Given the description of an element on the screen output the (x, y) to click on. 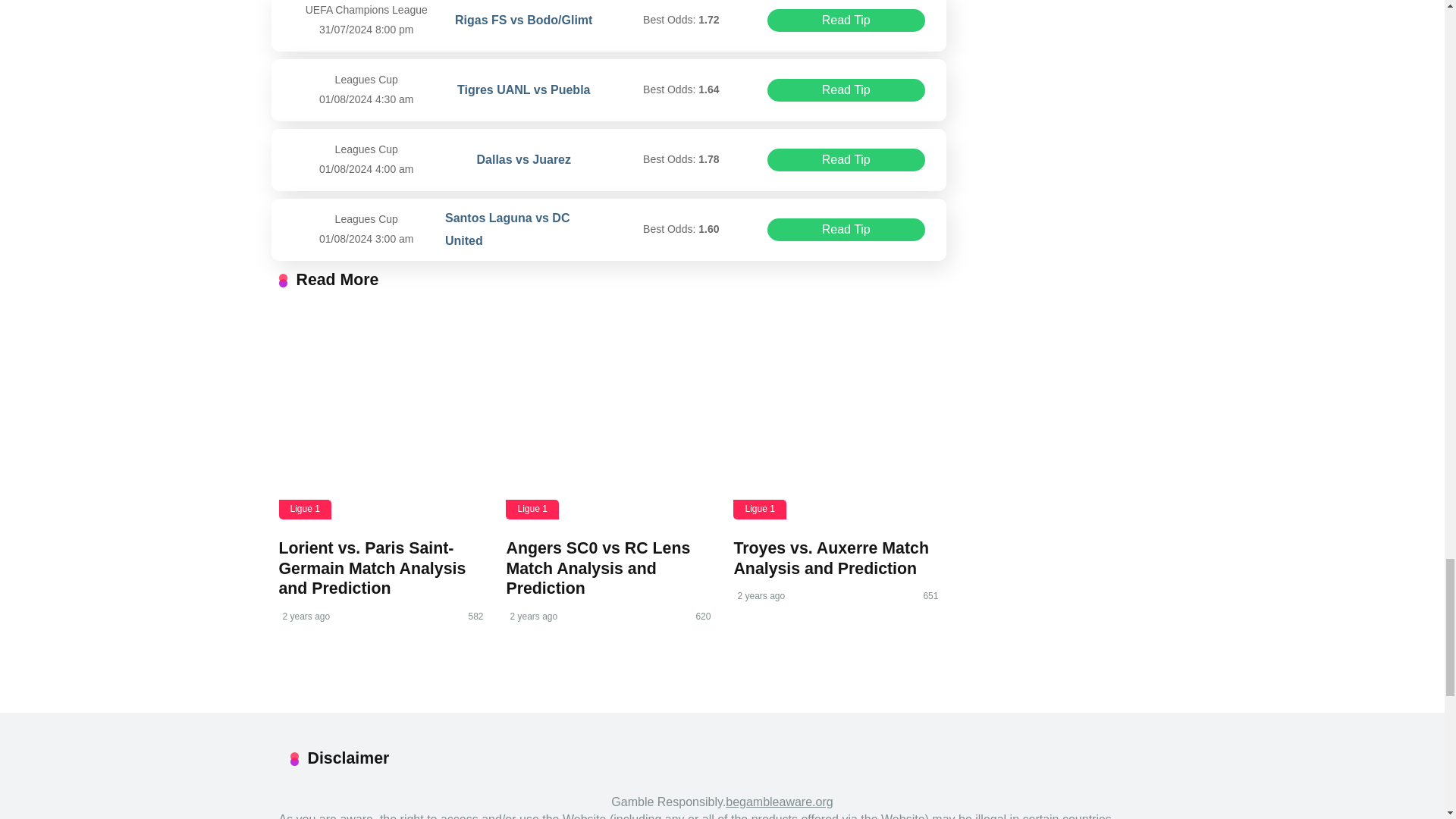
Troyes vs. Auxerre Match Analysis and Prediction (835, 416)
Read Tip (845, 159)
Ligue 1 (305, 508)
Troyes vs. Auxerre Match Analysis and Prediction (830, 558)
Read Tip (845, 229)
Troyes vs. Auxerre Match Analysis and Prediction (830, 558)
Ligue 1 (759, 508)
Read Tip (845, 89)
Ligue 1 (531, 508)
Read Tip (845, 20)
